Given the description of an element on the screen output the (x, y) to click on. 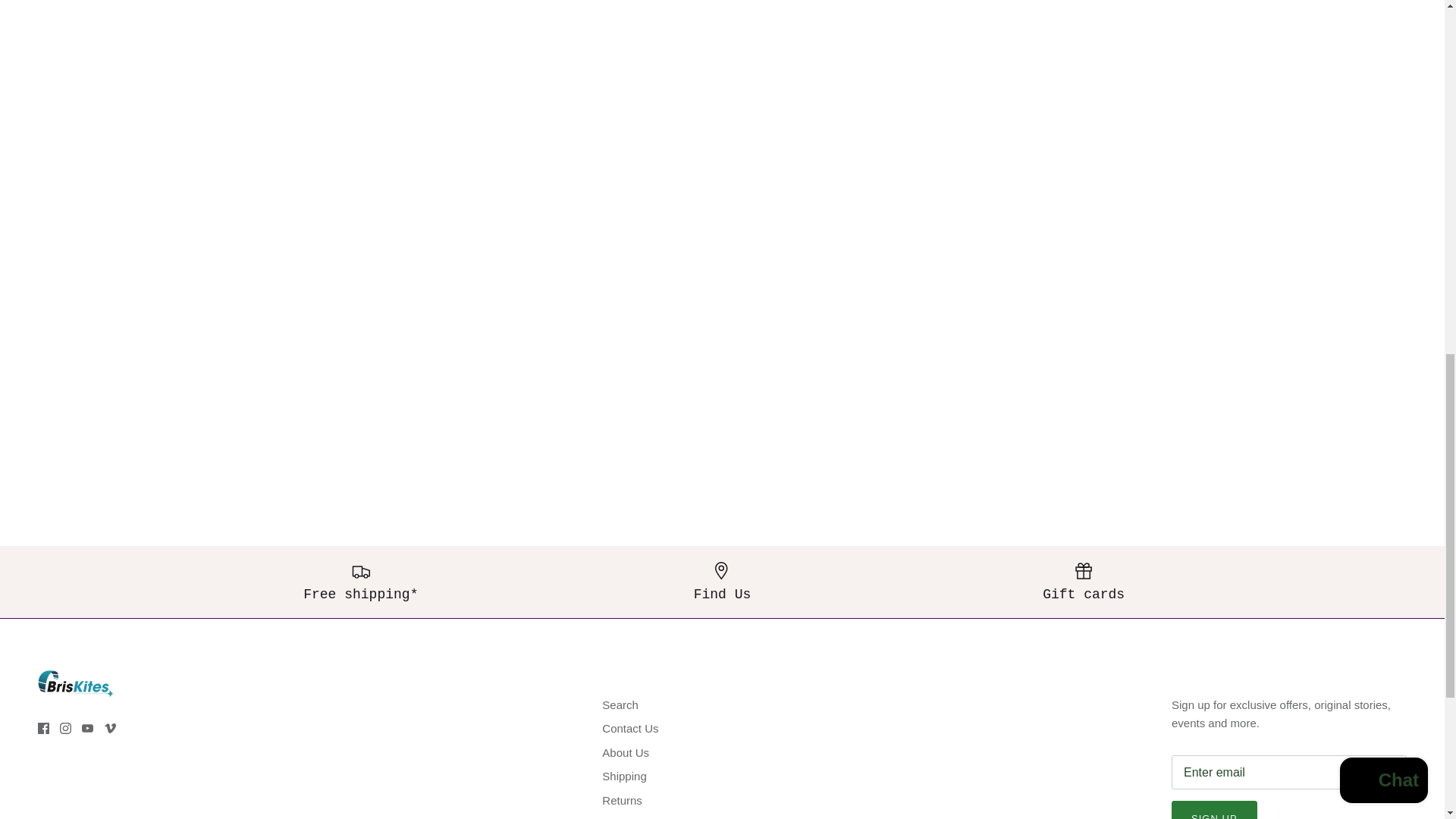
Vimeo (110, 727)
Instagram (65, 727)
Youtube (87, 727)
Facebook (43, 727)
